Given the description of an element on the screen output the (x, y) to click on. 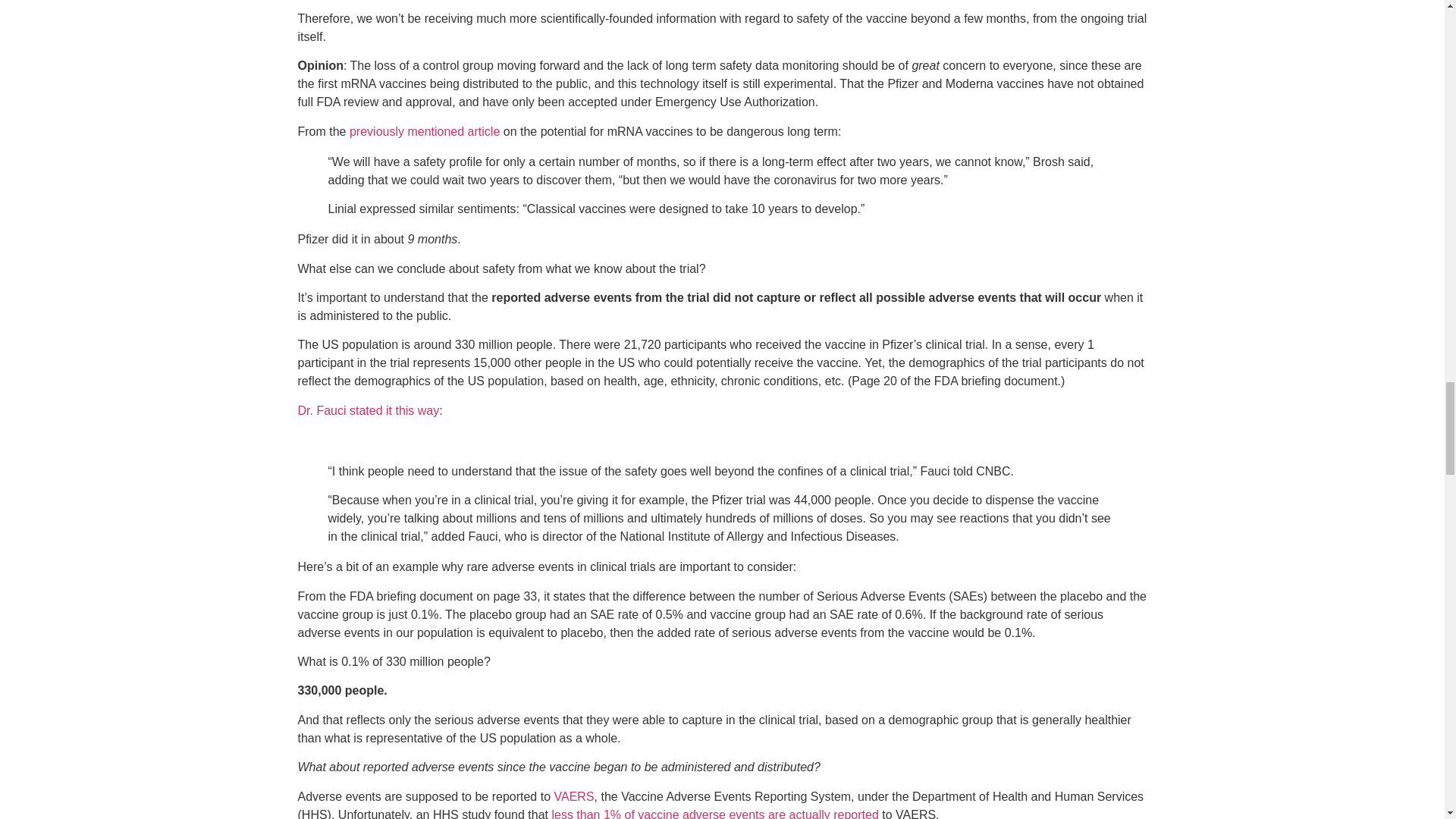
VAERS (573, 796)
Dr. Fauci stated it this way (368, 410)
previously mentioned article (424, 131)
